Given the description of an element on the screen output the (x, y) to click on. 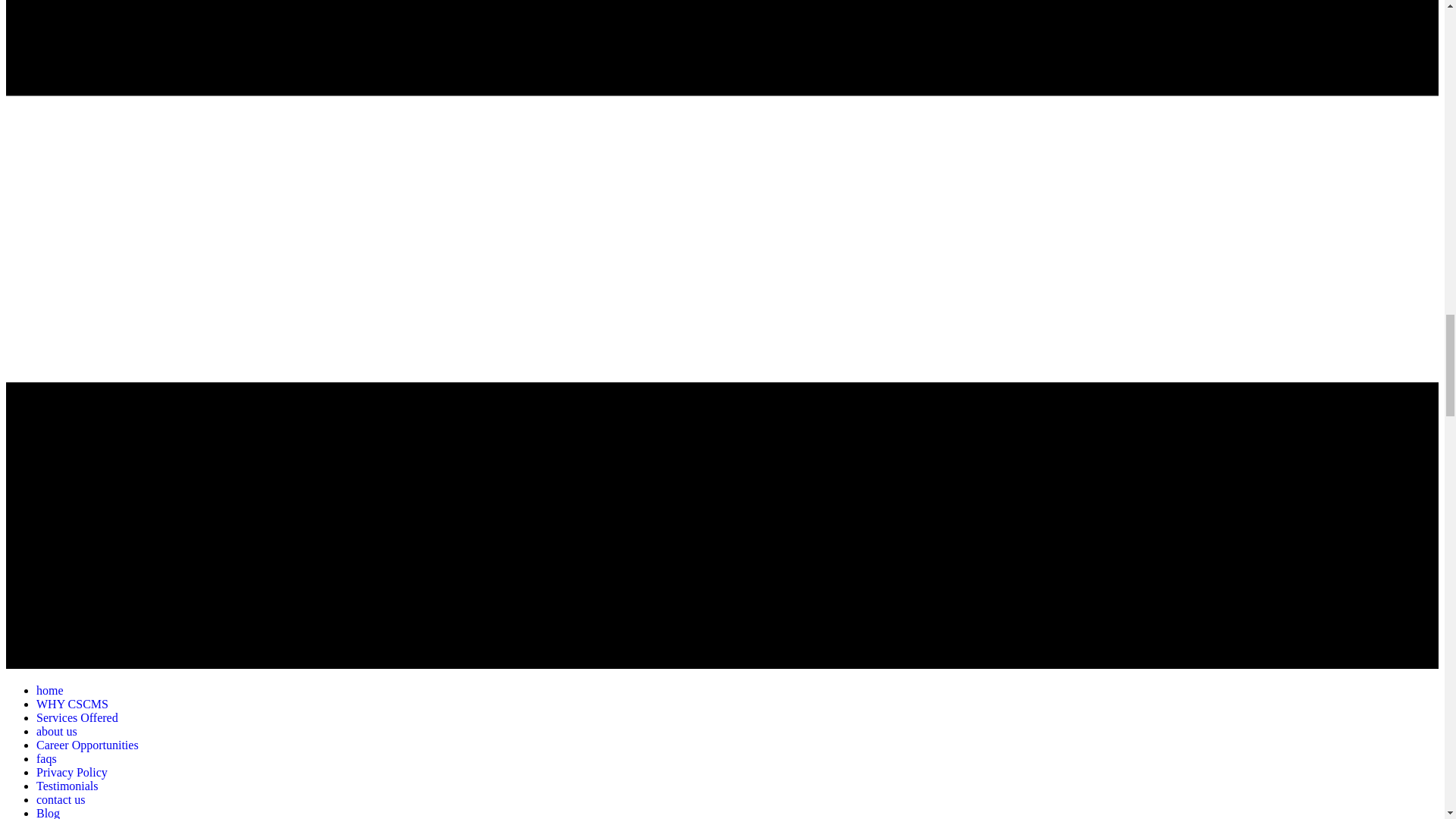
home (50, 689)
WHY CSCMS (71, 703)
Services Offered (76, 717)
Testimonials (67, 785)
faqs (46, 758)
contact us (60, 799)
Privacy Policy (71, 771)
Career Opportunities (87, 744)
Blog (47, 812)
about us (56, 730)
